Given the description of an element on the screen output the (x, y) to click on. 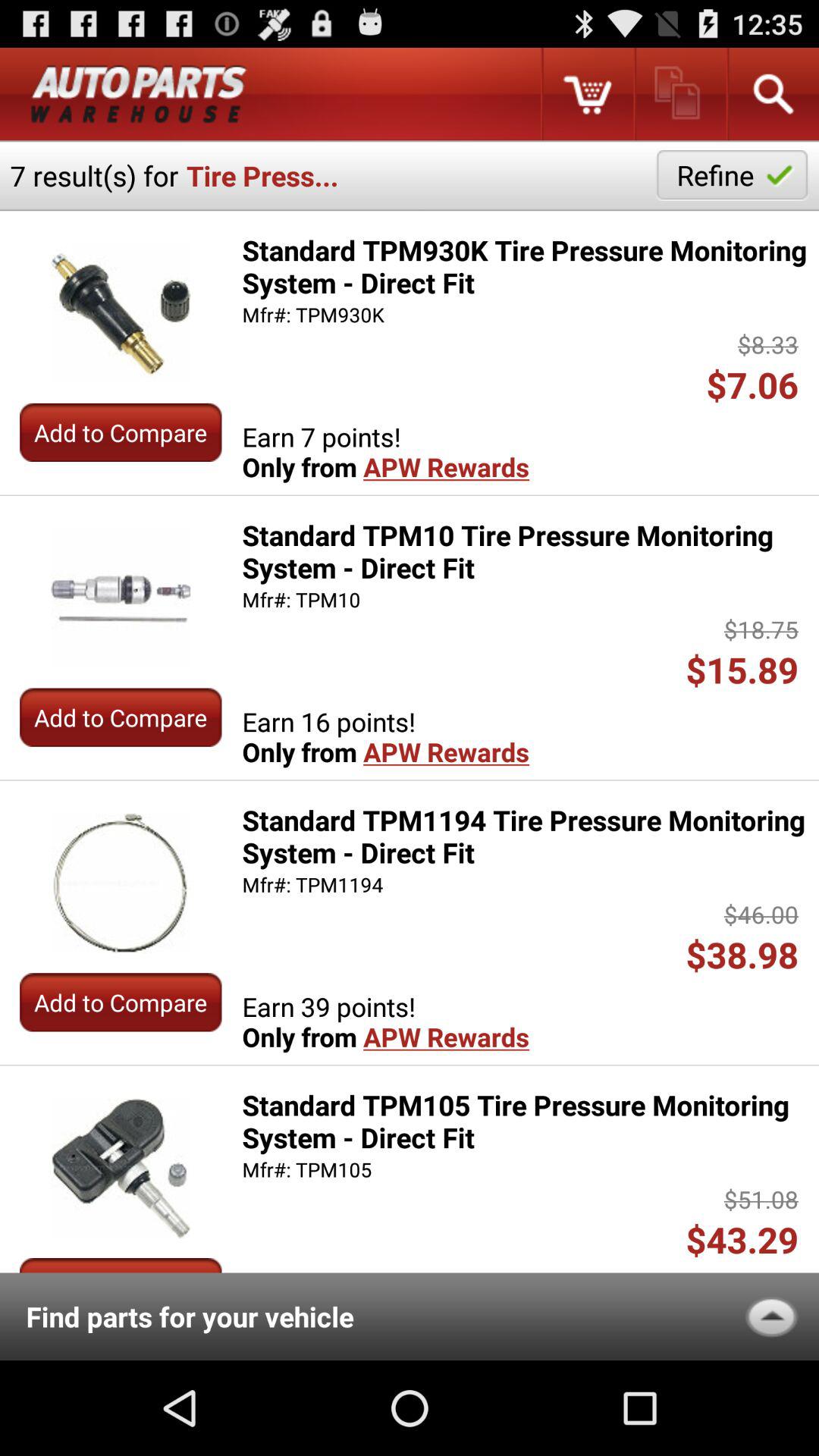
search icon (772, 93)
